Given the description of an element on the screen output the (x, y) to click on. 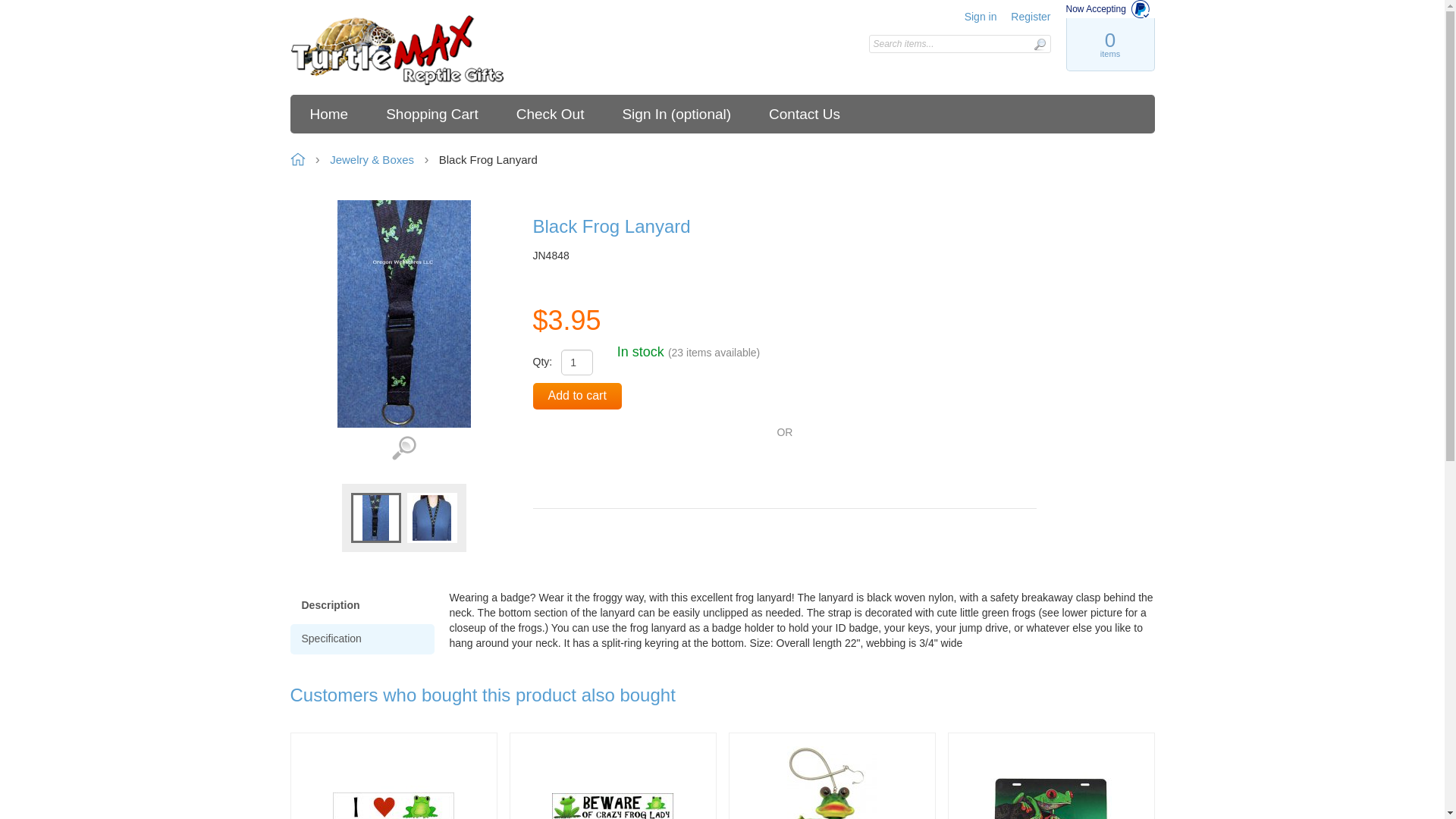
Search (1039, 43)
Now Accepting PayPal (1109, 9)
Quantity (576, 362)
Your cart (1109, 44)
Home (397, 50)
1 (576, 362)
